Given the description of an element on the screen output the (x, y) to click on. 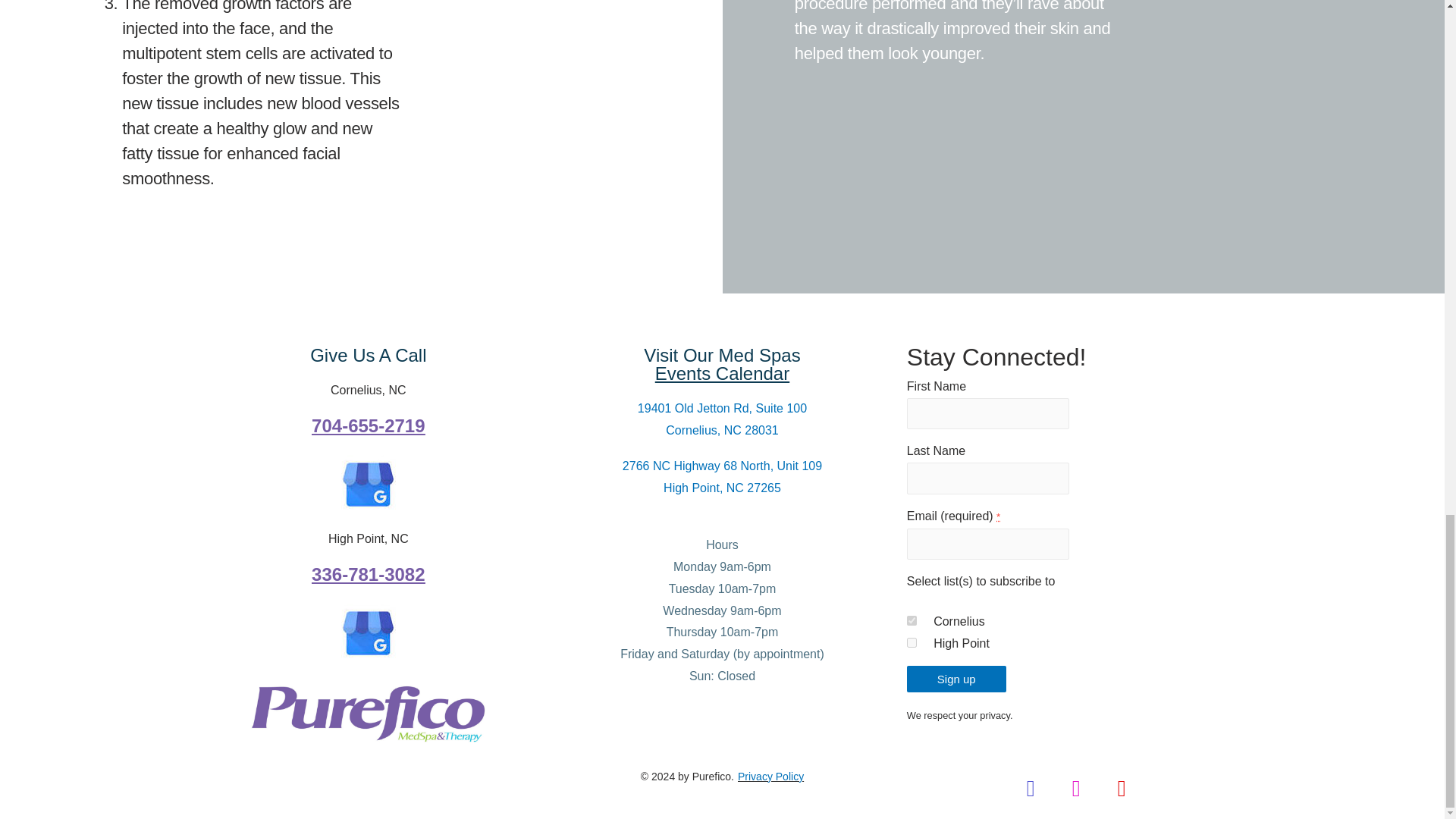
Sign up (956, 678)
1202159333 (912, 620)
1384523670 (912, 642)
